Given the description of an element on the screen output the (x, y) to click on. 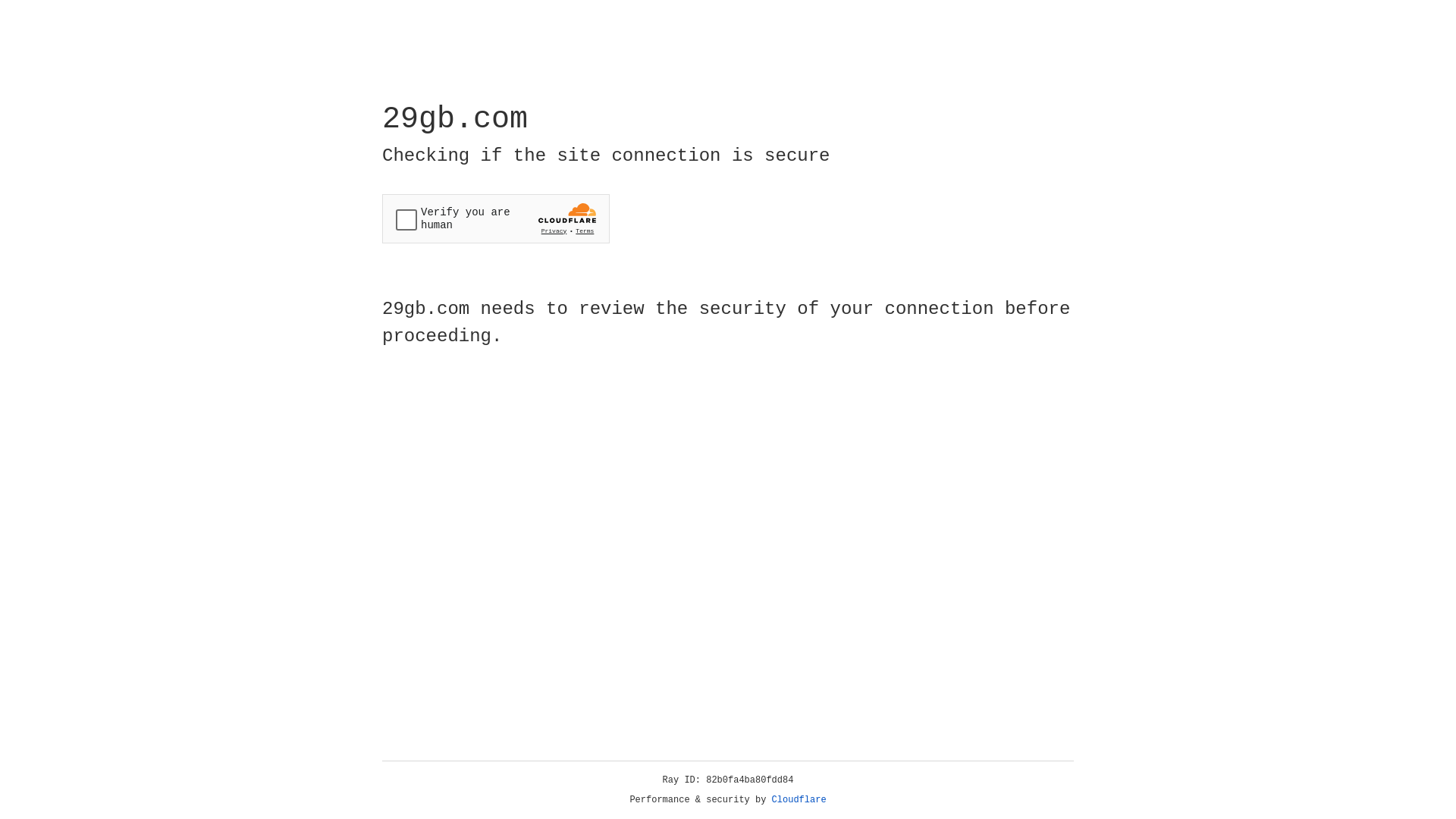
Widget containing a Cloudflare security challenge Element type: hover (495, 218)
Cloudflare Element type: text (798, 799)
